Given the description of an element on the screen output the (x, y) to click on. 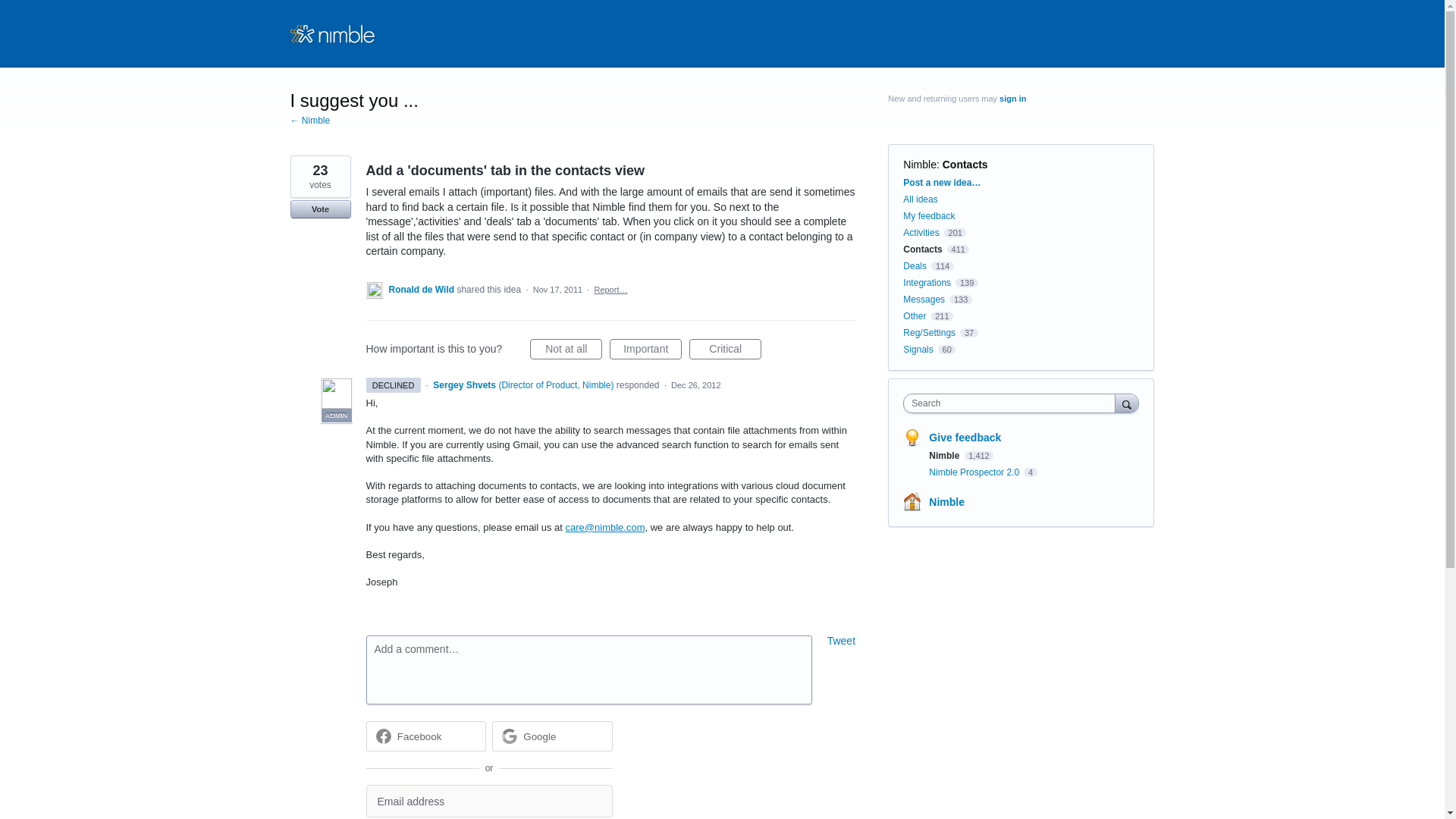
Google (552, 736)
This idea is declined - updated over 11 years ago (392, 385)
Facebook sign in (425, 736)
DECLINED (392, 385)
Critical (724, 349)
Skip to content (12, 12)
Google sign in (552, 736)
Facebook (425, 736)
Customer Feedback for Nimble (338, 33)
Vote (319, 208)
Not at all (565, 349)
Ronald de Wild (422, 289)
Important (645, 349)
Tweet (841, 640)
Google (539, 736)
